Given the description of an element on the screen output the (x, y) to click on. 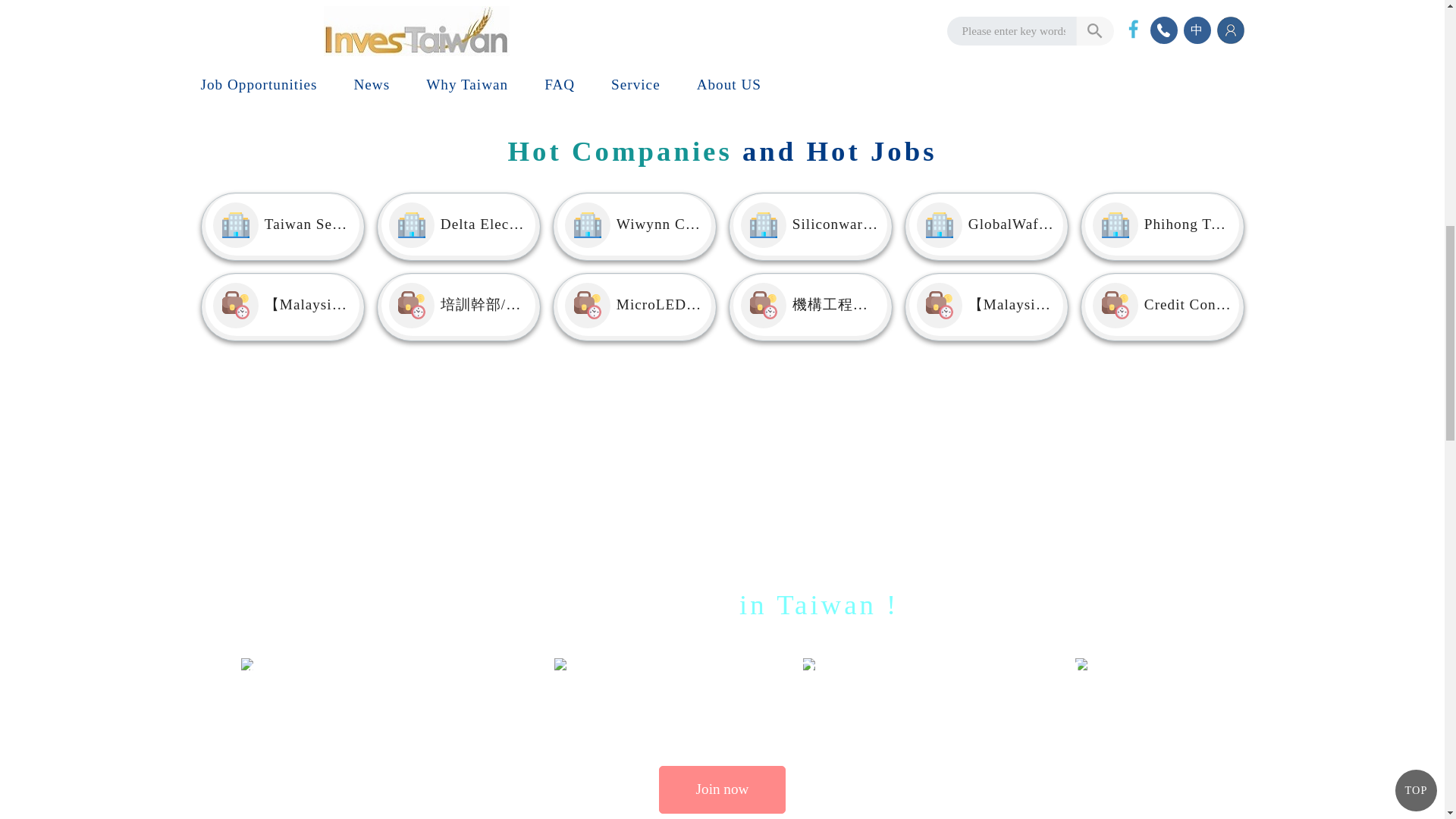
Wiwynn Corporation (633, 226)
GlobalWafers Co., Ltd. (985, 226)
Phihong Technology Co., Ltd. (1161, 226)
Taiwan Semiconductor Manufacturing Company (282, 226)
Delta Electronics, Inc. (457, 226)
Siliconware Precision Industries Co., Ltd. (809, 226)
